Given the description of an element on the screen output the (x, y) to click on. 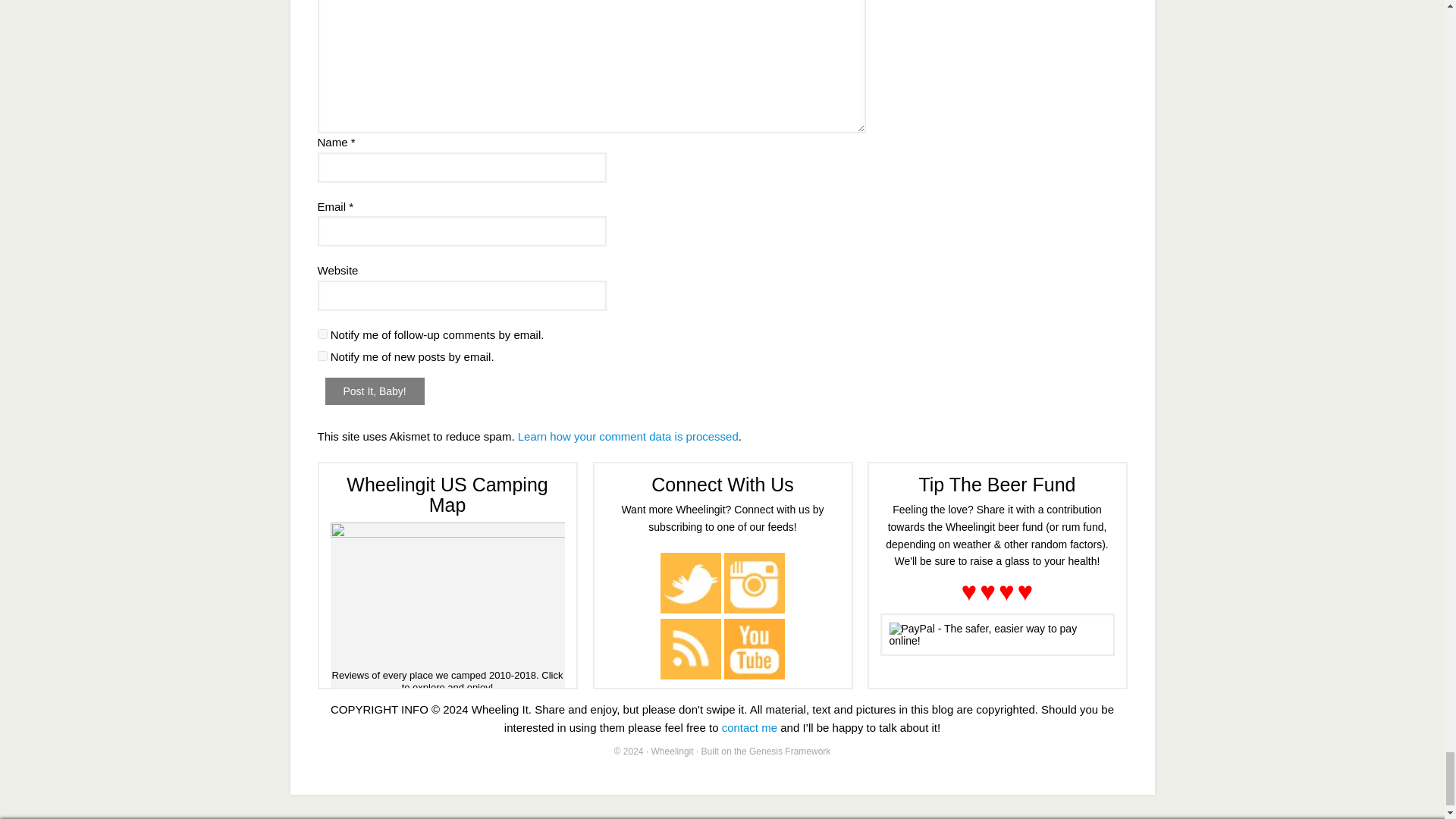
subscribe (321, 356)
Instagram (753, 582)
Wheelingit US Camping Map (447, 595)
Twitter (690, 582)
subscribe (321, 334)
Post It, Baby! (373, 390)
